Given the description of an element on the screen output the (x, y) to click on. 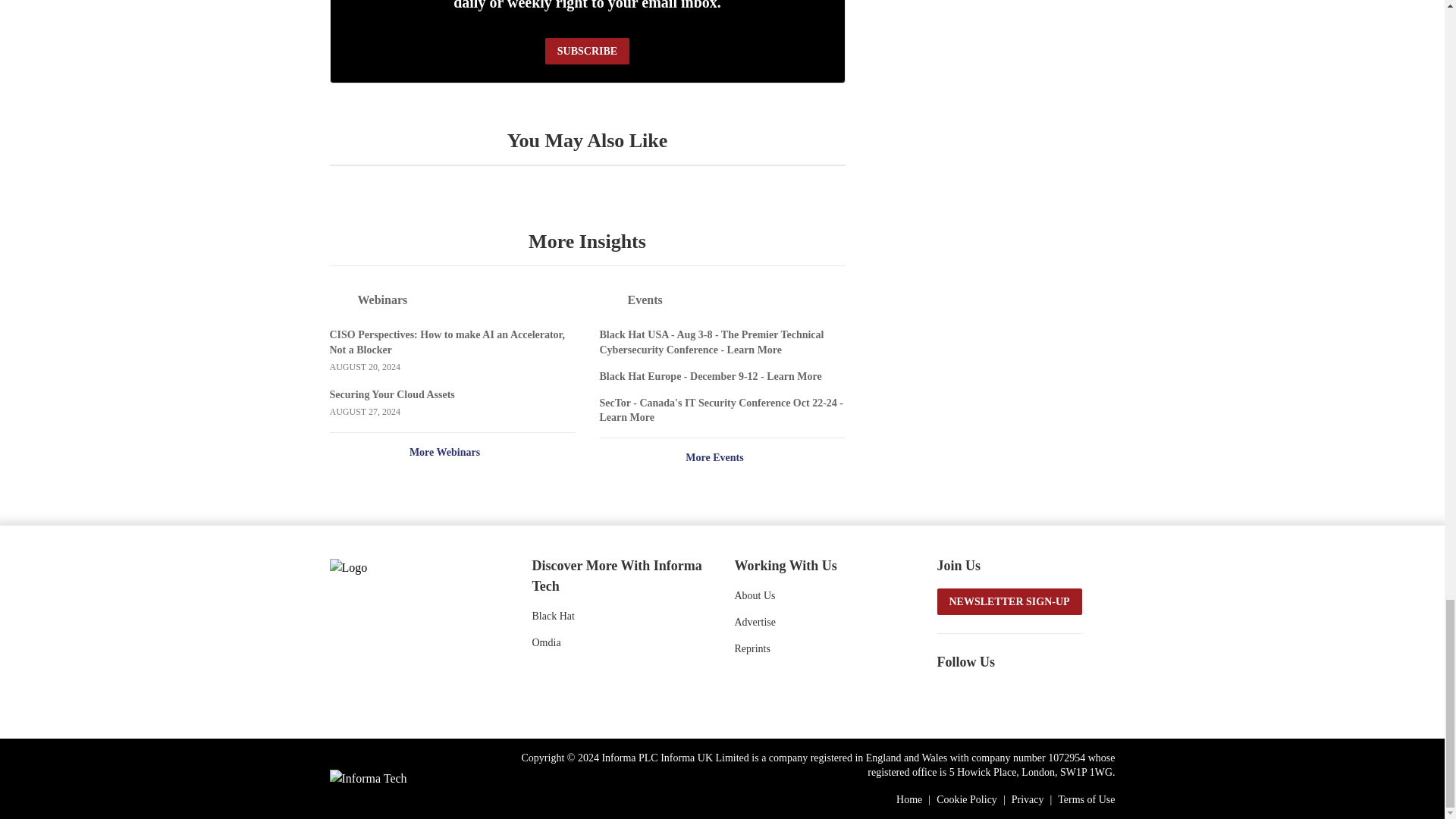
Informa Tech (367, 778)
Logo (410, 566)
